Given the description of an element on the screen output the (x, y) to click on. 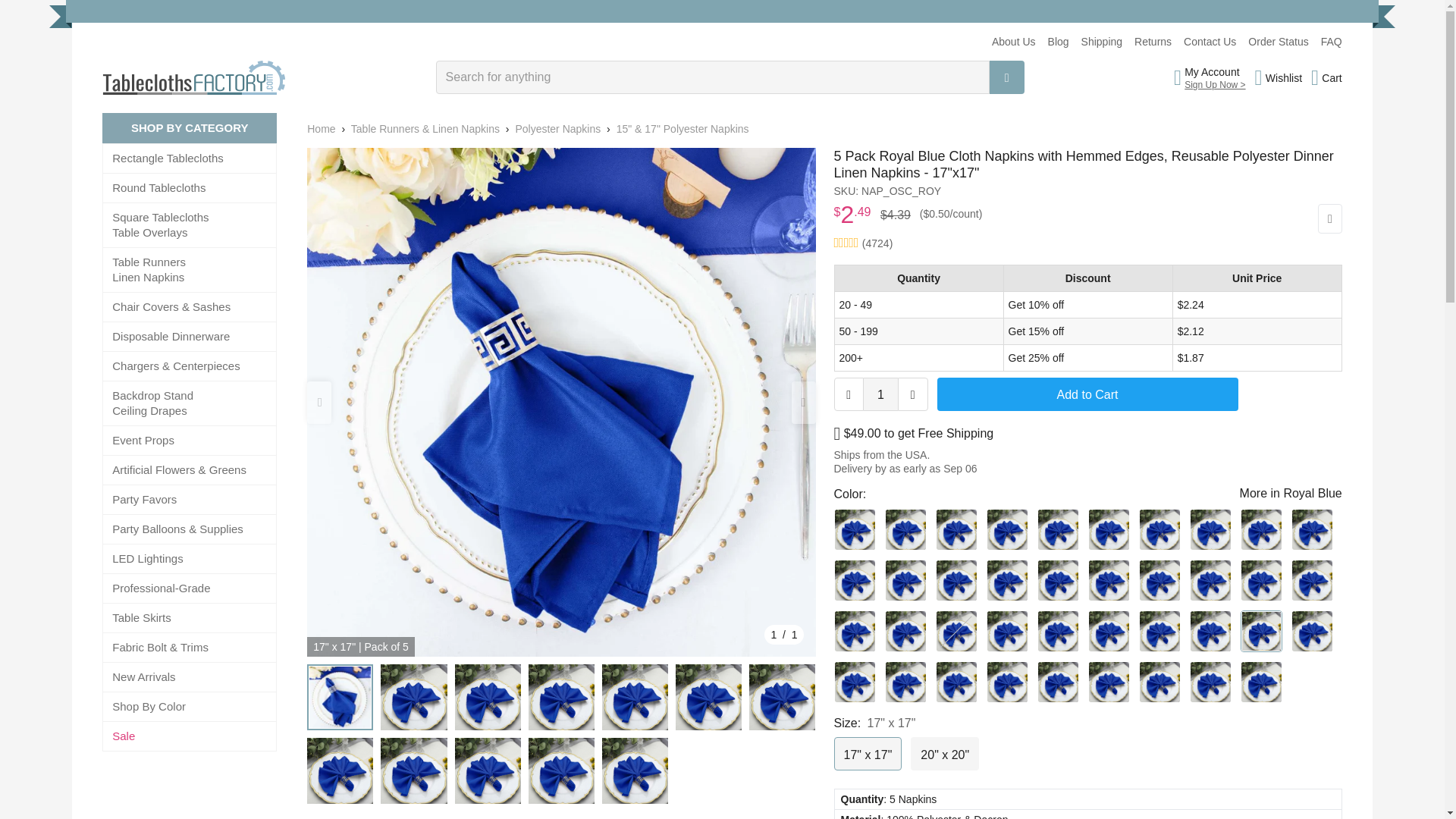
Cart (1326, 77)
Cinnamon Rose (1006, 580)
1 (880, 394)
Shipping (1101, 41)
About Us (1013, 41)
Pink (1057, 580)
FAQ (1331, 41)
Order Status (1277, 41)
Champagne (1006, 529)
Wine (1209, 580)
